Given the description of an element on the screen output the (x, y) to click on. 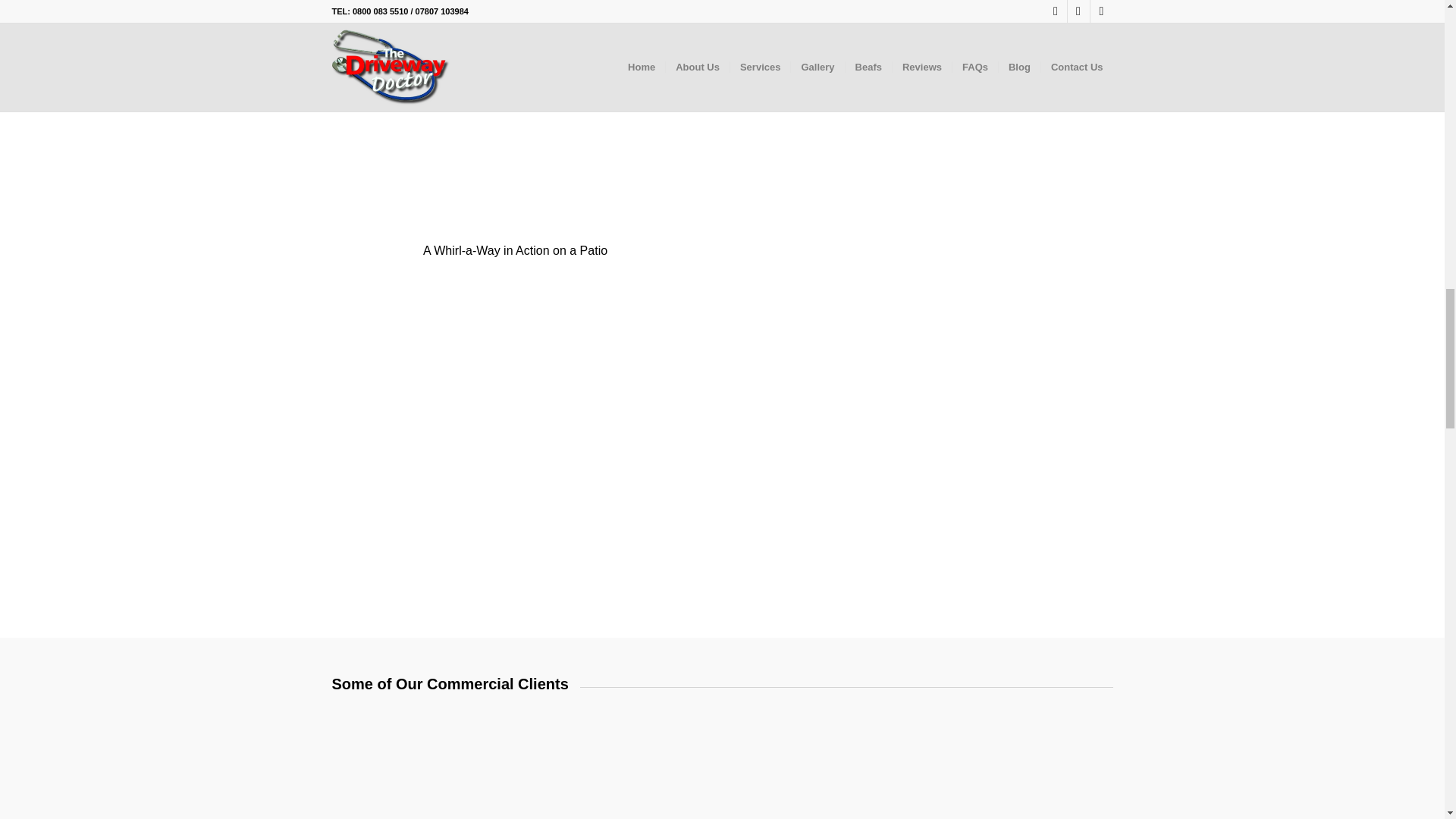
Bmw-logo (722, 762)
Tavelodge-logo (887, 771)
Royal-Priors (556, 762)
Checkatrade-Logo (514, 485)
Mcdonalds-logo-slider (390, 771)
GMB-logo (515, 323)
Whirlaway-on-patio (514, 115)
